Given the description of an element on the screen output the (x, y) to click on. 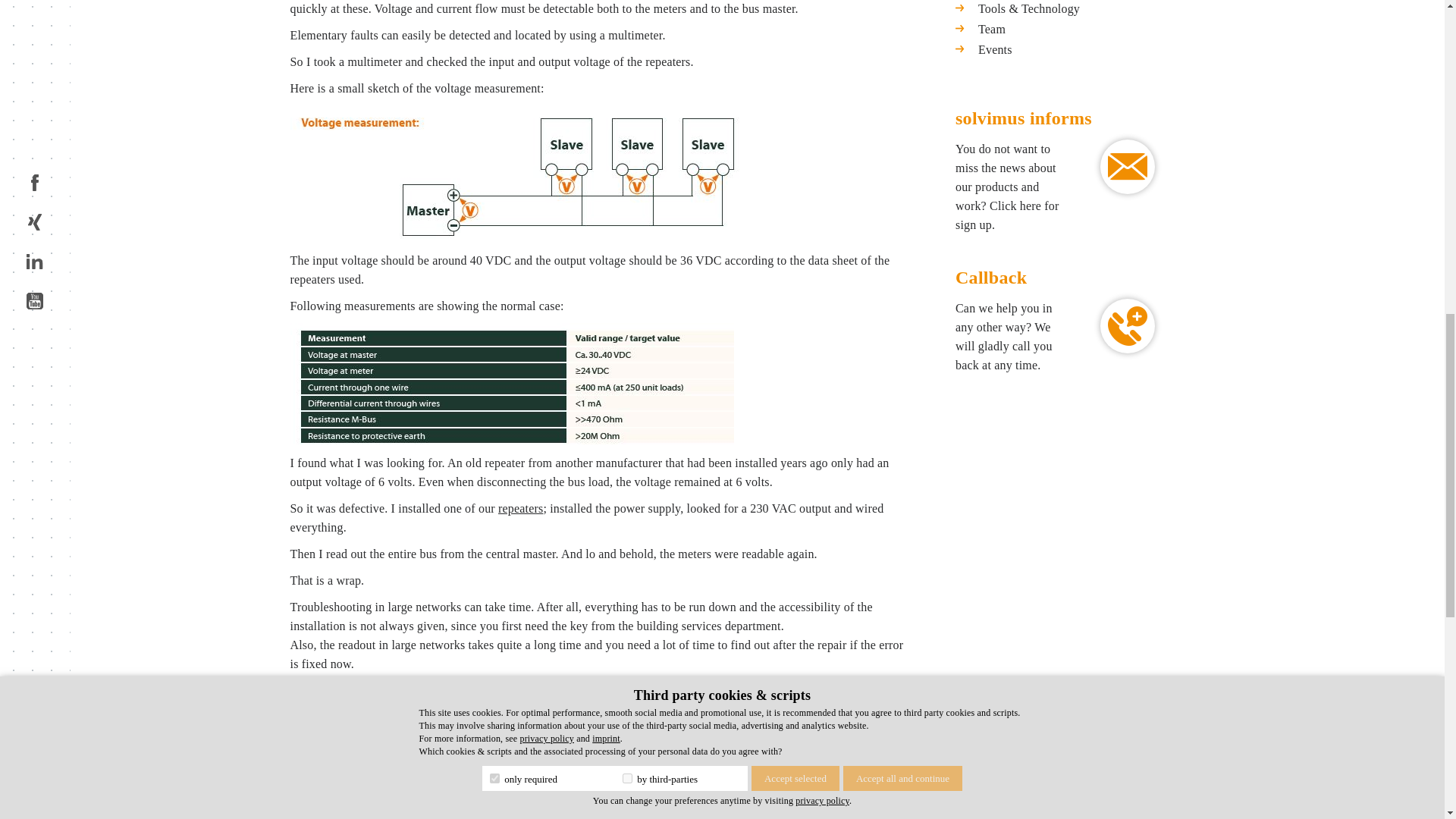
Team (511, 755)
repeaters (520, 508)
Data logger (450, 755)
Products (383, 755)
